Given the description of an element on the screen output the (x, y) to click on. 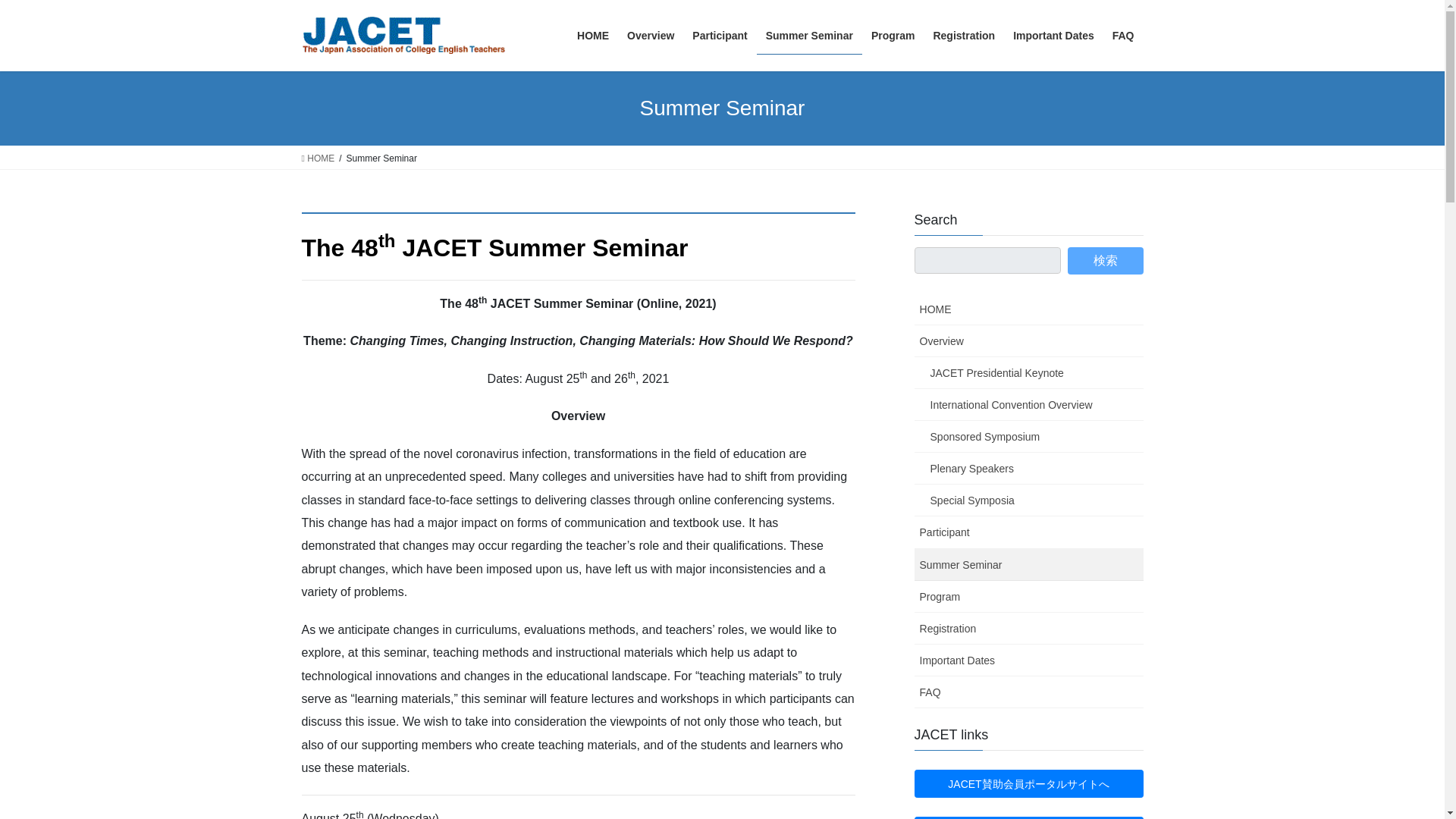
Important Dates (1053, 36)
FAQ (1122, 36)
Participant (718, 36)
Overview (1028, 341)
Summer Seminar (1028, 564)
Plenary Speakers (1028, 468)
International Convention Overview (1028, 404)
HOME (592, 36)
Special Symposia (1028, 500)
